Given the description of an element on the screen output the (x, y) to click on. 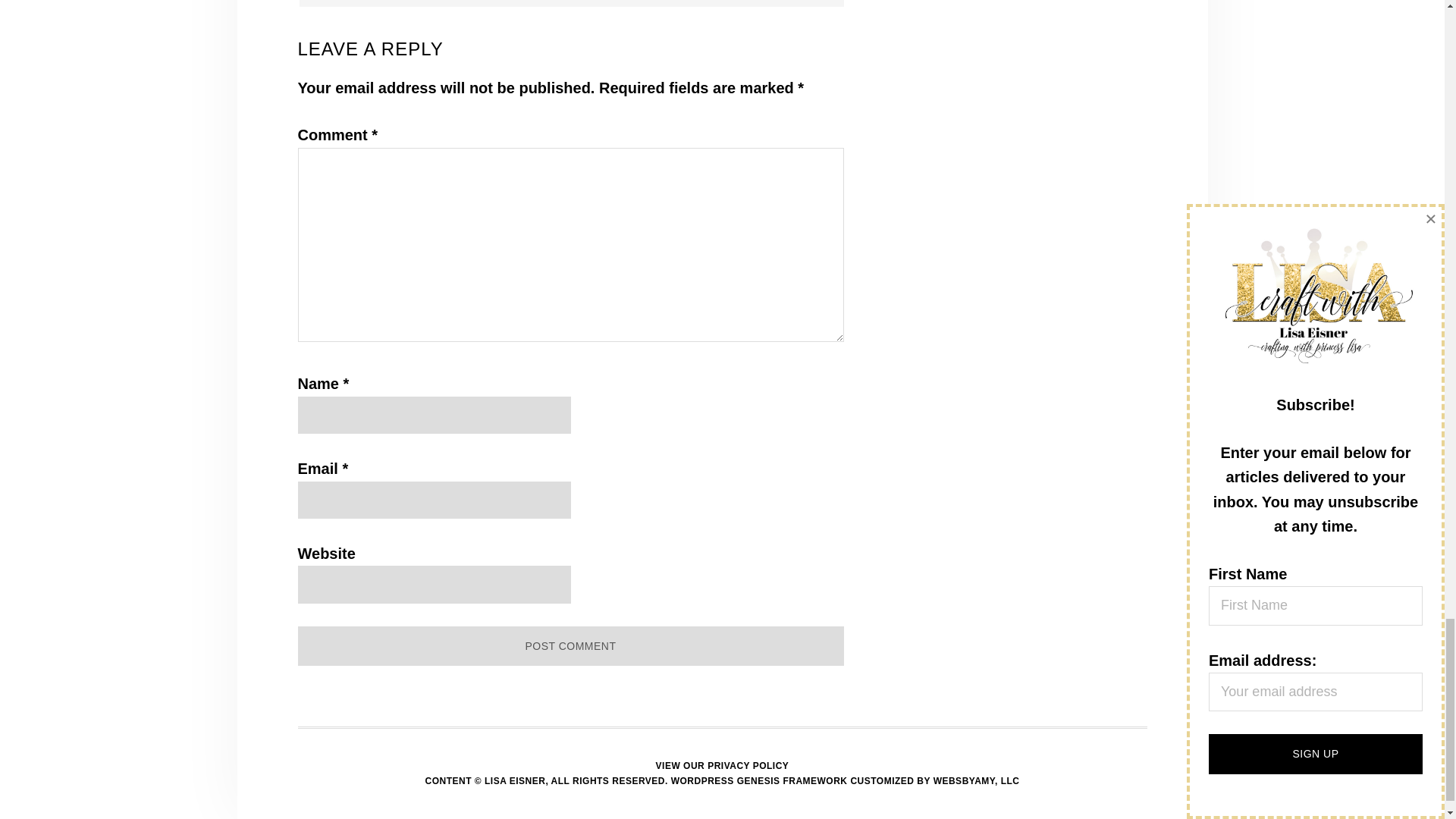
Post Comment (570, 646)
